Given the description of an element on the screen output the (x, y) to click on. 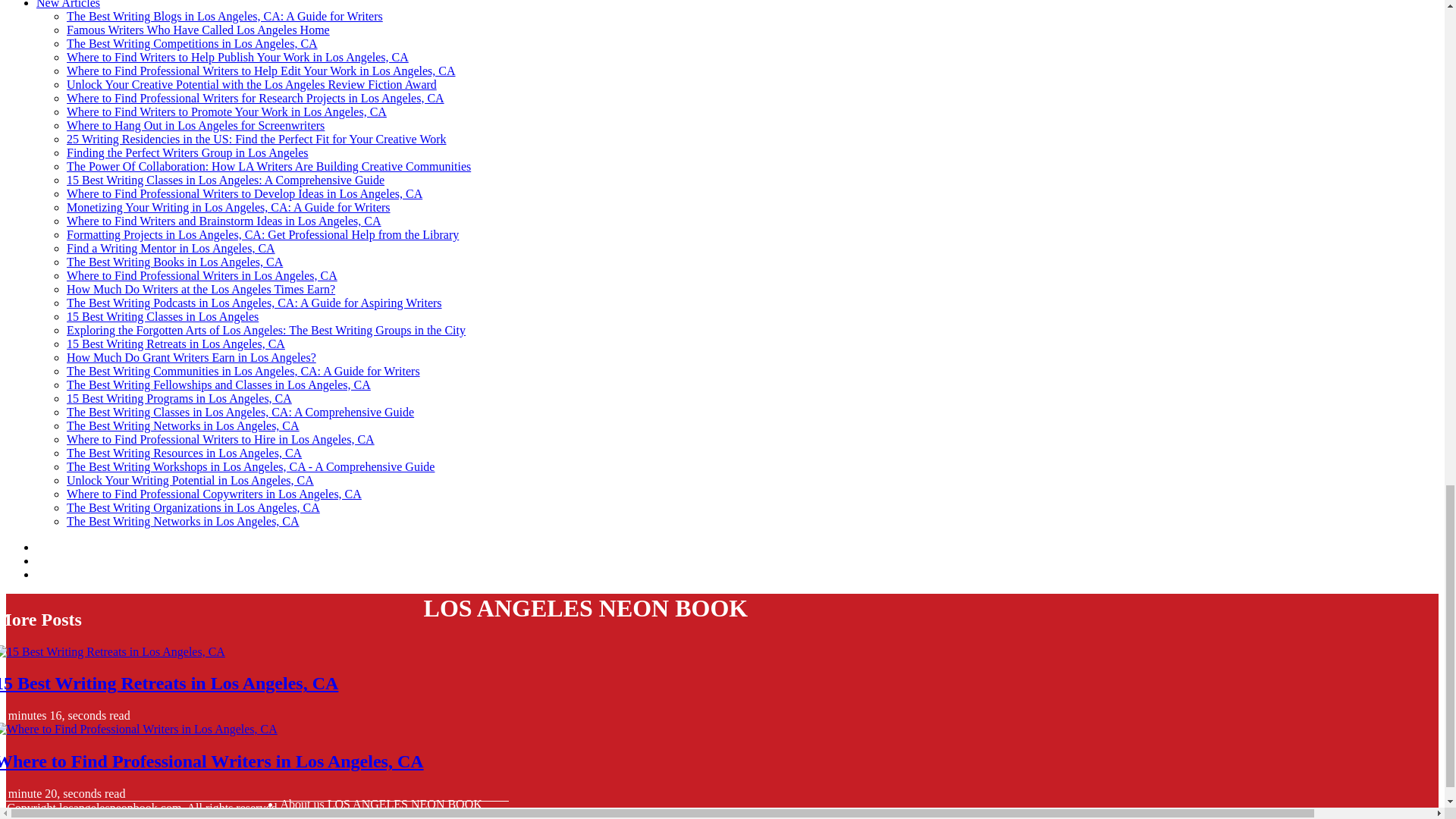
New Articles (68, 4)
